Given the description of an element on the screen output the (x, y) to click on. 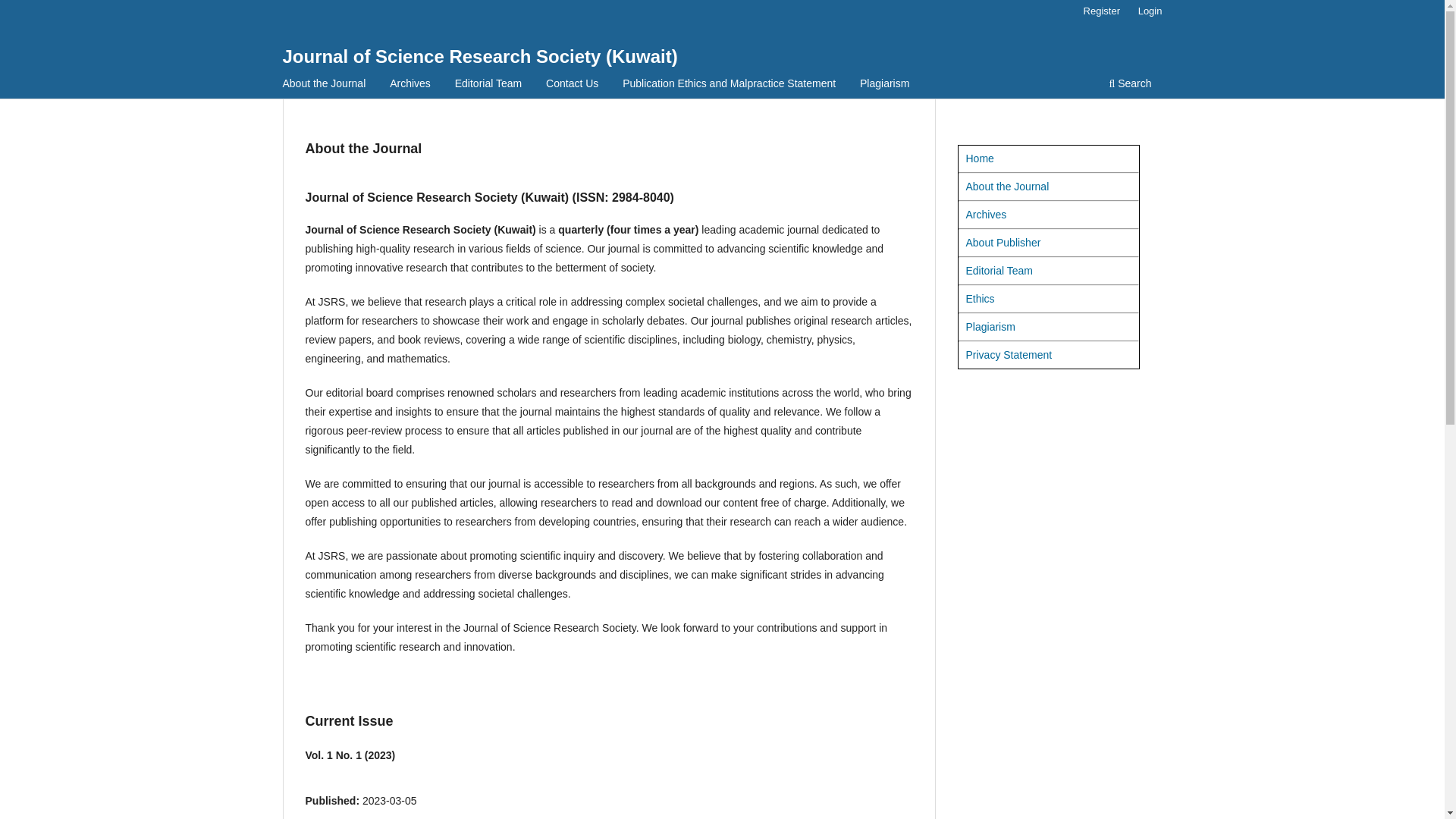
About Publisher (1003, 242)
Publication Ethics and Malpractice Statement (729, 85)
Archives (986, 214)
Search (1129, 85)
Login (1150, 11)
Plagiarism (990, 326)
Editorial Team (999, 270)
Register (1100, 11)
Ethics (980, 298)
About the Journal (324, 85)
